Given the description of an element on the screen output the (x, y) to click on. 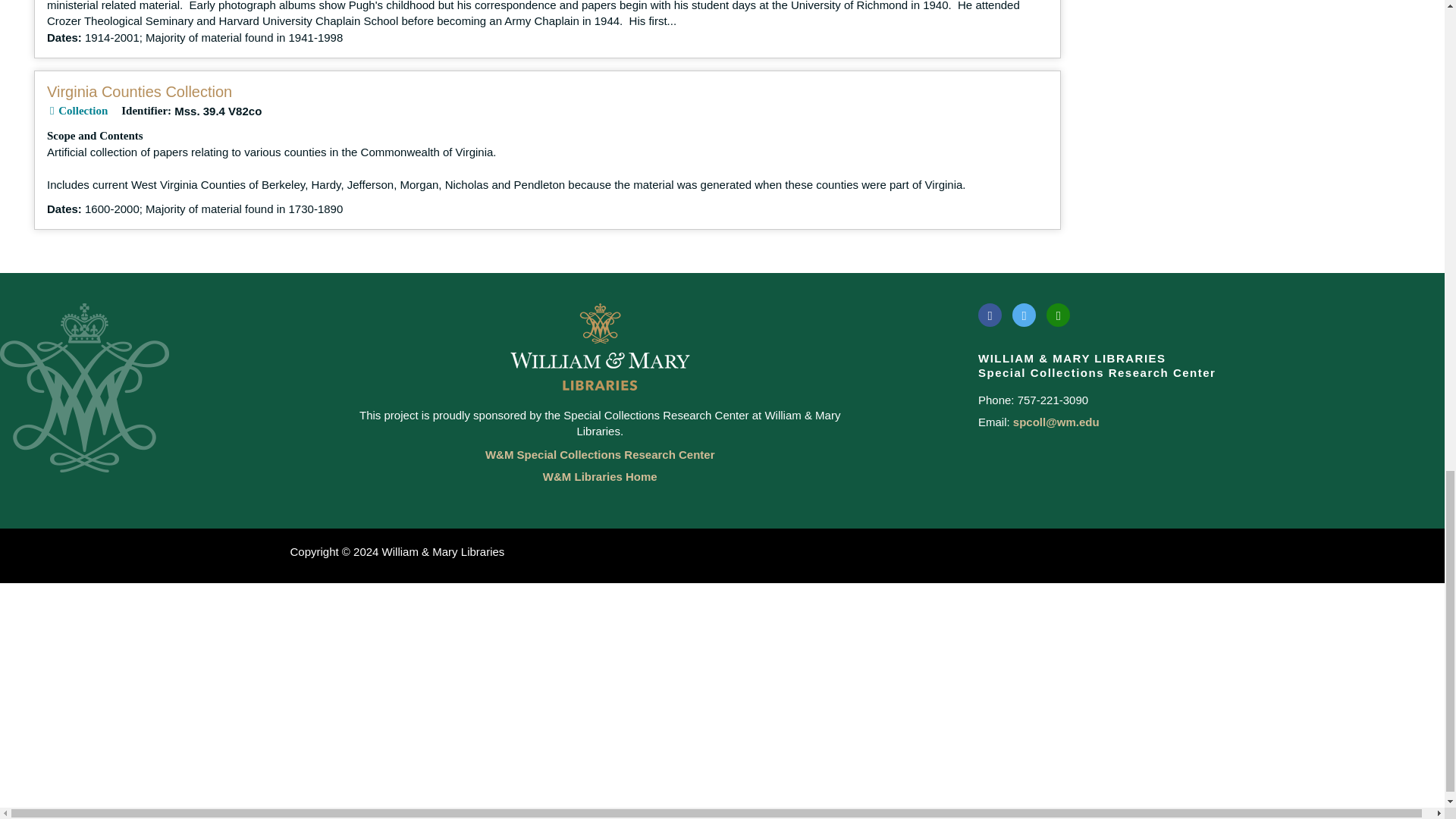
Virginia Counties Collection (138, 91)
